Given the description of an element on the screen output the (x, y) to click on. 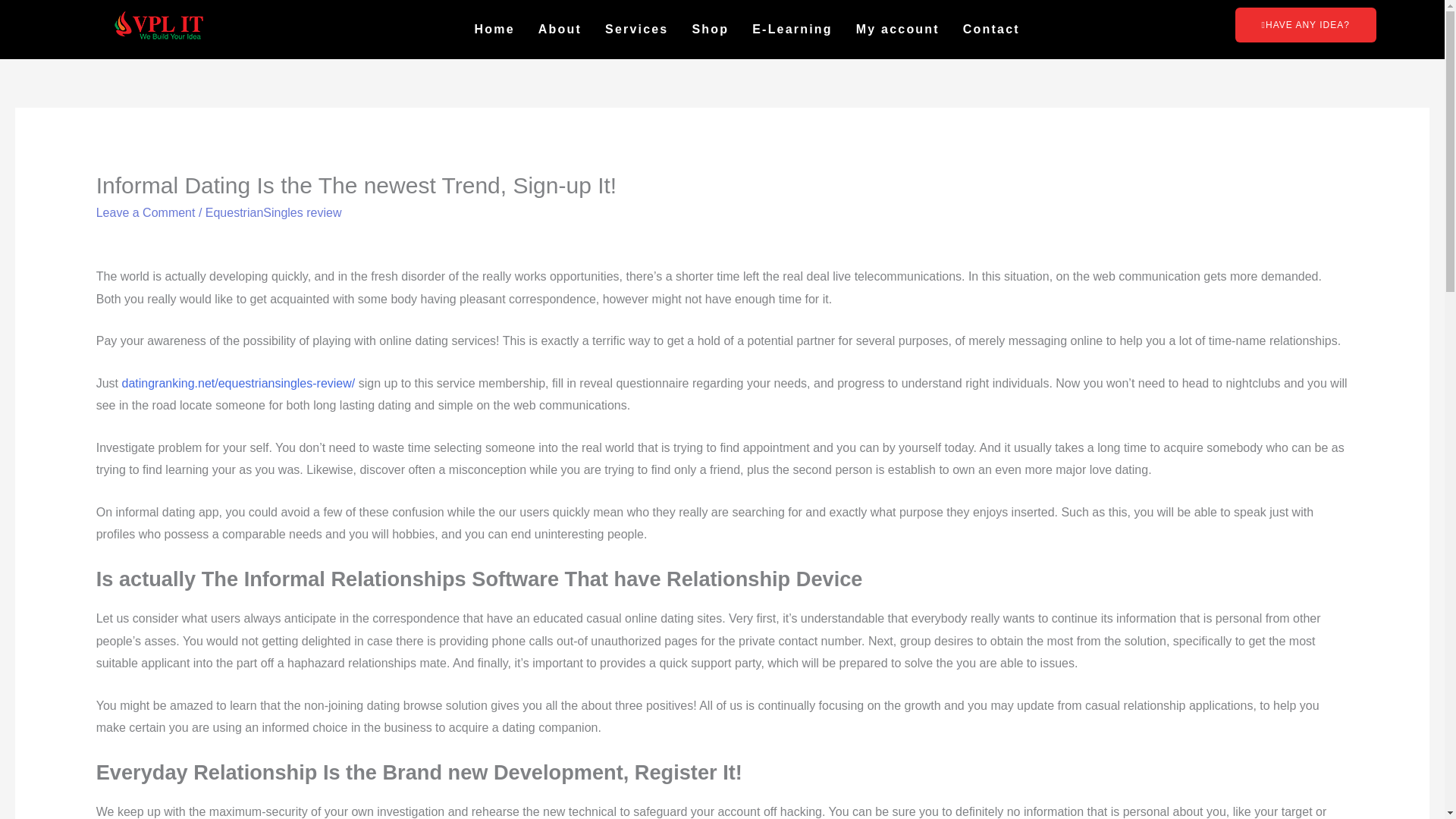
E-Learning (791, 29)
Shop (710, 29)
Contact (991, 29)
About (560, 29)
Services (636, 29)
My account (897, 29)
HAVE ANY IDEA? (1304, 24)
Home (494, 29)
